Given the description of an element on the screen output the (x, y) to click on. 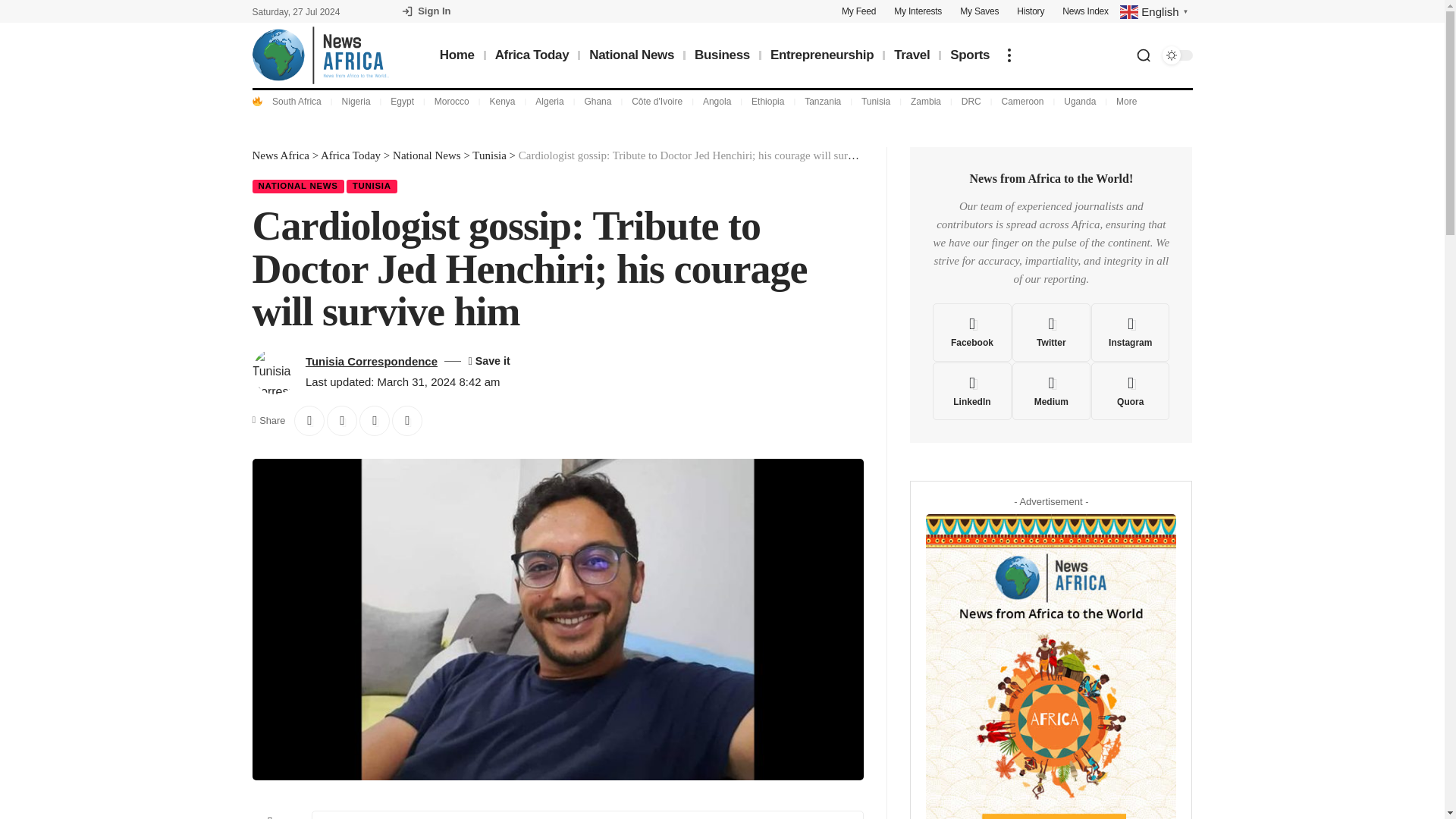
Go to the Tunisia Category archives. (488, 155)
My Feed (858, 11)
My Interests (917, 11)
Go to Africa Today. (350, 155)
Home (456, 54)
Go to News Africa. (279, 155)
Sign In (426, 11)
History (1029, 11)
News Index (1085, 11)
My Saves (978, 11)
Go to the National News Category archives. (427, 155)
